Given the description of an element on the screen output the (x, y) to click on. 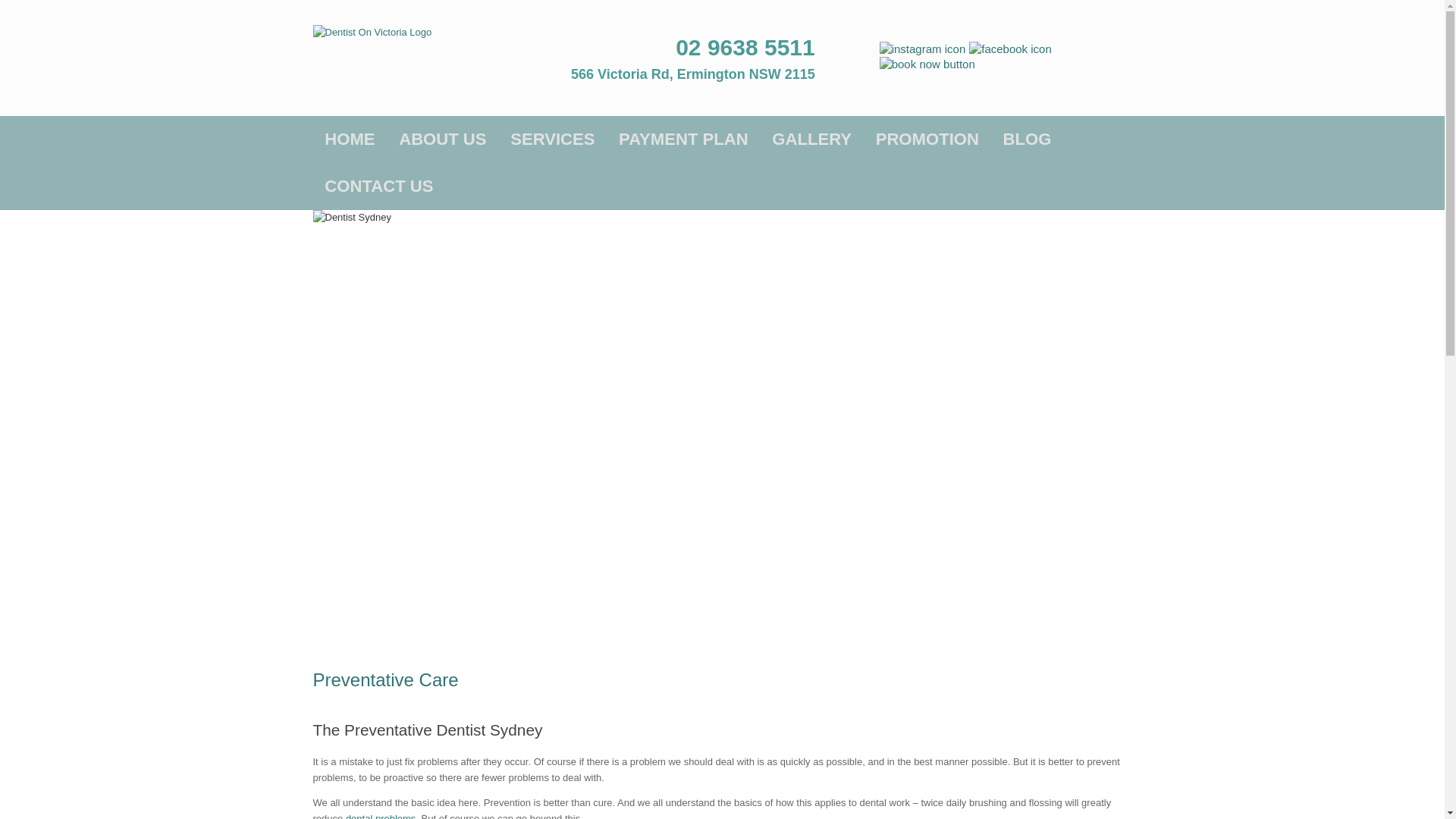
GALLERY (812, 138)
SERVICES (552, 138)
CONTACT US (378, 185)
PROMOTION (927, 138)
HOME (349, 138)
02 9638 5511 (745, 47)
Dentist On Victoria (371, 31)
dental problems. (382, 816)
PAYMENT PLAN (683, 138)
ABOUT US (441, 138)
BLOG (1026, 138)
